Given the description of an element on the screen output the (x, y) to click on. 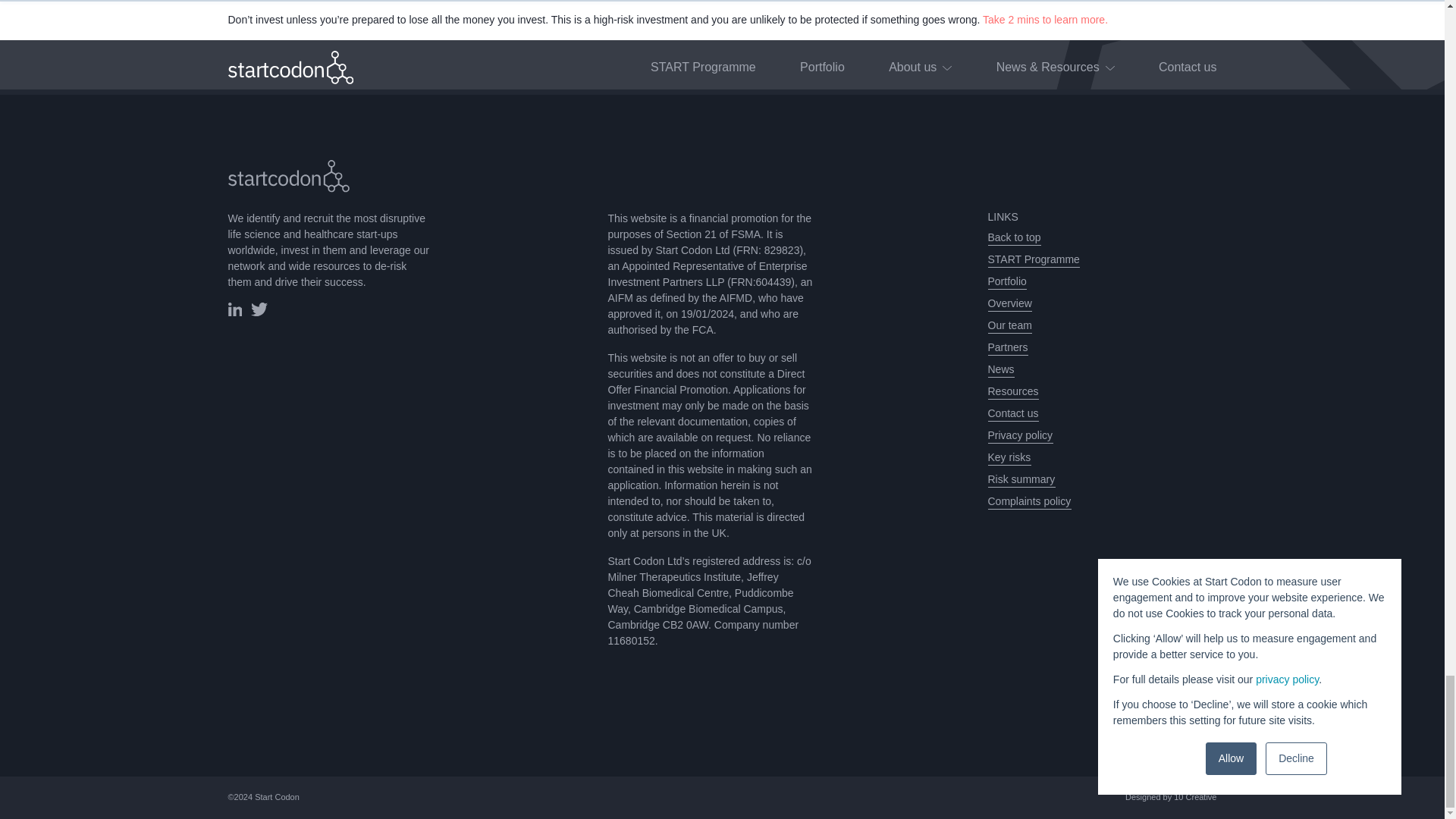
Portfolio (1006, 281)
Linkedin (234, 312)
Back to top (1014, 237)
Privacy policy (1019, 435)
Twitter (258, 309)
Resources (1012, 391)
Linkedin (234, 309)
News (1000, 369)
Our team (1008, 325)
START Programme (1032, 259)
Twitter (258, 312)
Overview (1008, 303)
Partners (1007, 347)
Contact us (1012, 413)
